Given the description of an element on the screen output the (x, y) to click on. 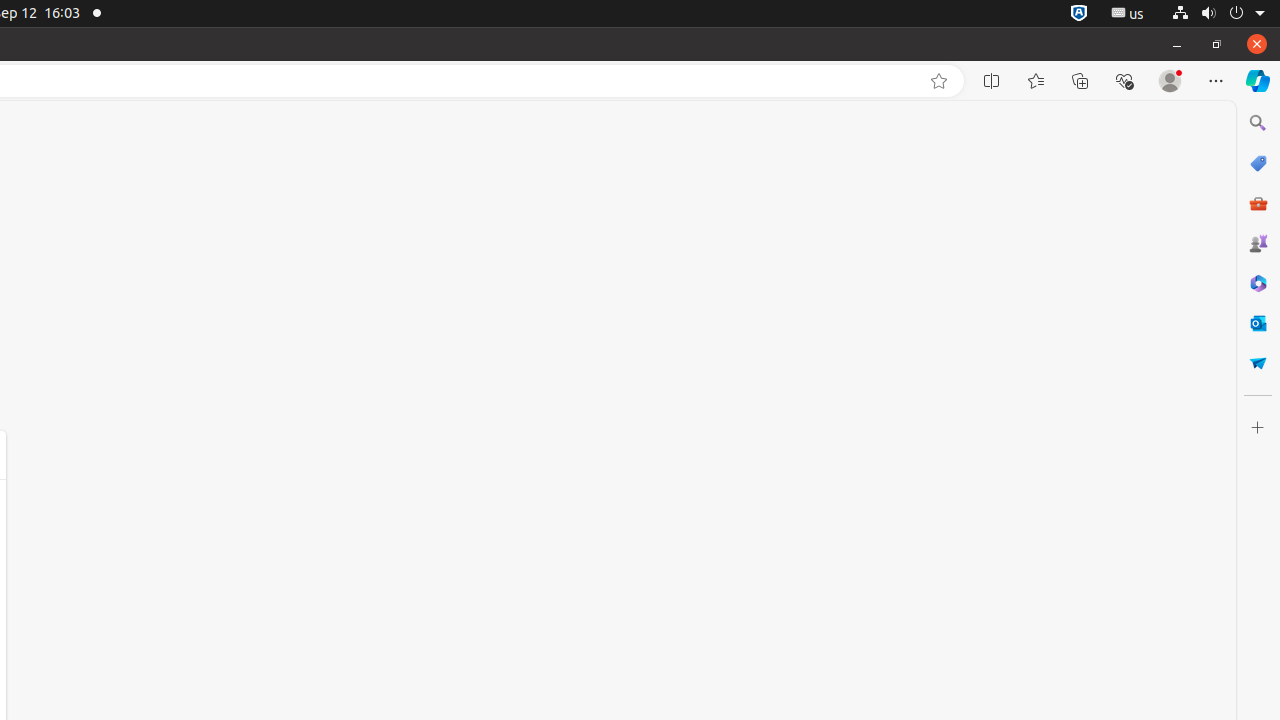
Collections Element type: push-button (1080, 81)
Microsoft Shopping Element type: push-button (1258, 163)
Customize Element type: push-button (1258, 428)
Outlook Element type: push-button (1258, 323)
:1.72/StatusNotifierItem Element type: menu (1079, 13)
